Given the description of an element on the screen output the (x, y) to click on. 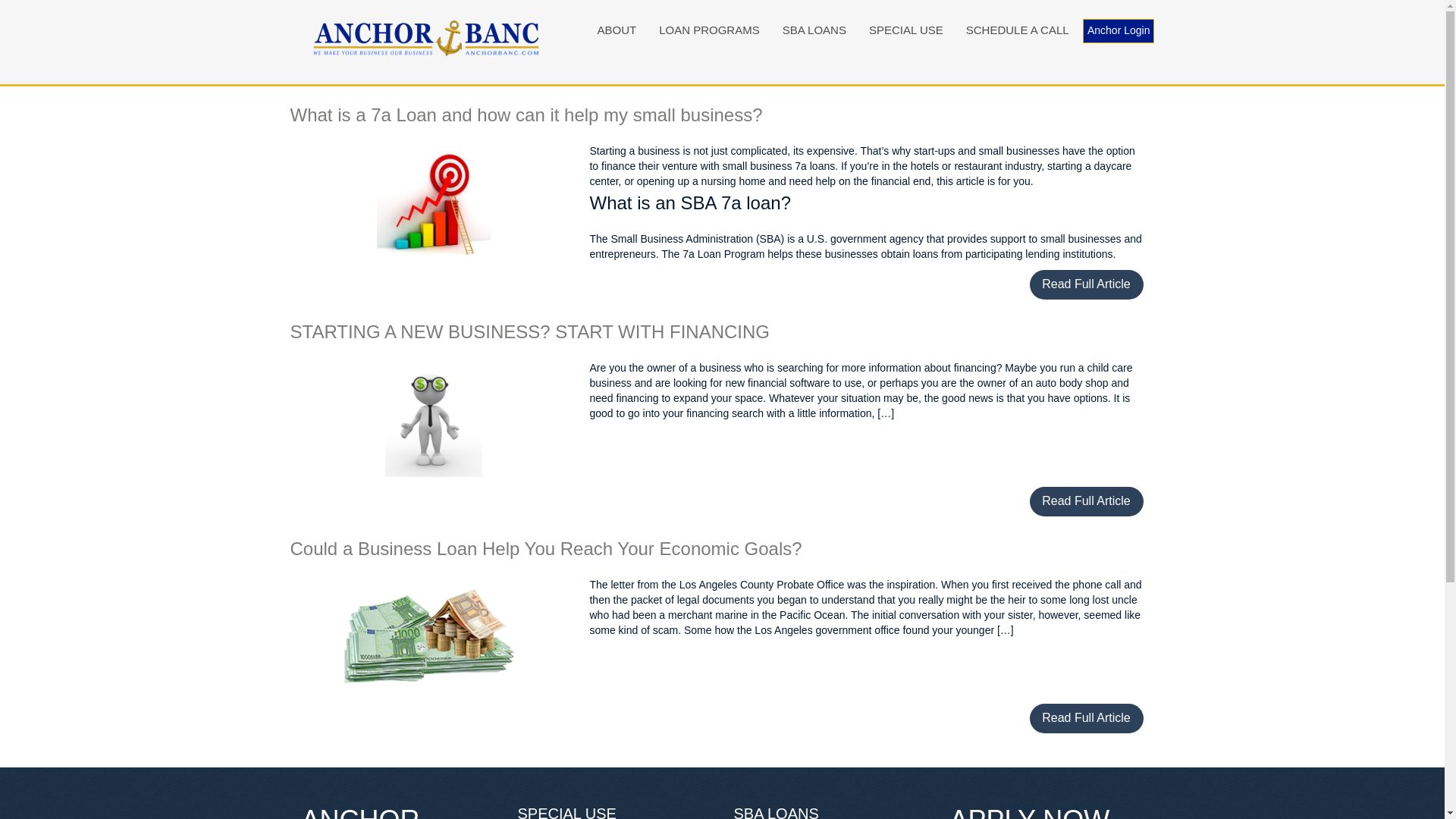
ABOUT (616, 30)
Read Full Article (1085, 501)
Read Full Article (1085, 284)
Anchor Login (1118, 30)
SPECIAL USE (906, 30)
STARTING A NEW BUSINESS? START WITH FINANCING (529, 331)
LOAN PROGRAMS (709, 30)
SCHEDULE A CALL (1017, 30)
What is a 7a Loan and how can it help my small business? (525, 114)
SBA LOANS (814, 30)
Read Full Article (1085, 718)
Could a Business Loan Help You Reach Your Economic Goals? (545, 548)
